Given the description of an element on the screen output the (x, y) to click on. 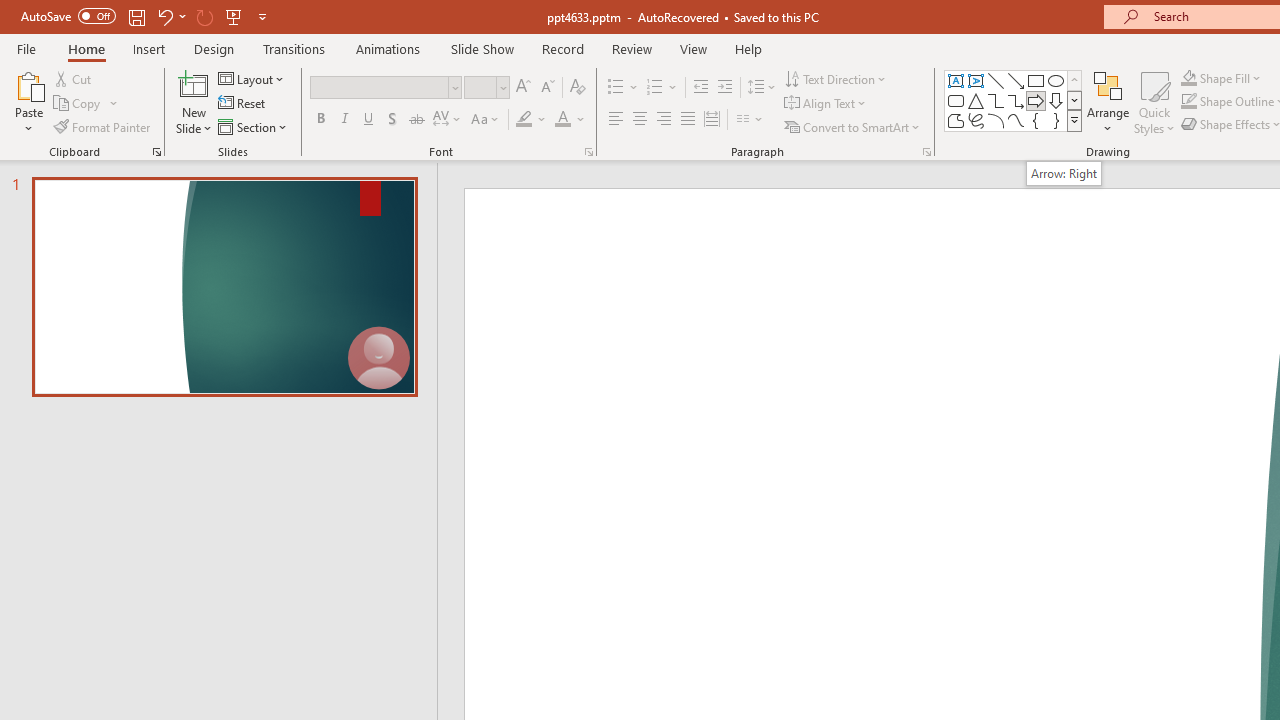
Increase Font Size (522, 87)
Text Direction (836, 78)
Arrange (1108, 102)
Columns (750, 119)
Quick Styles (1154, 102)
Change Case (486, 119)
